Given the description of an element on the screen output the (x, y) to click on. 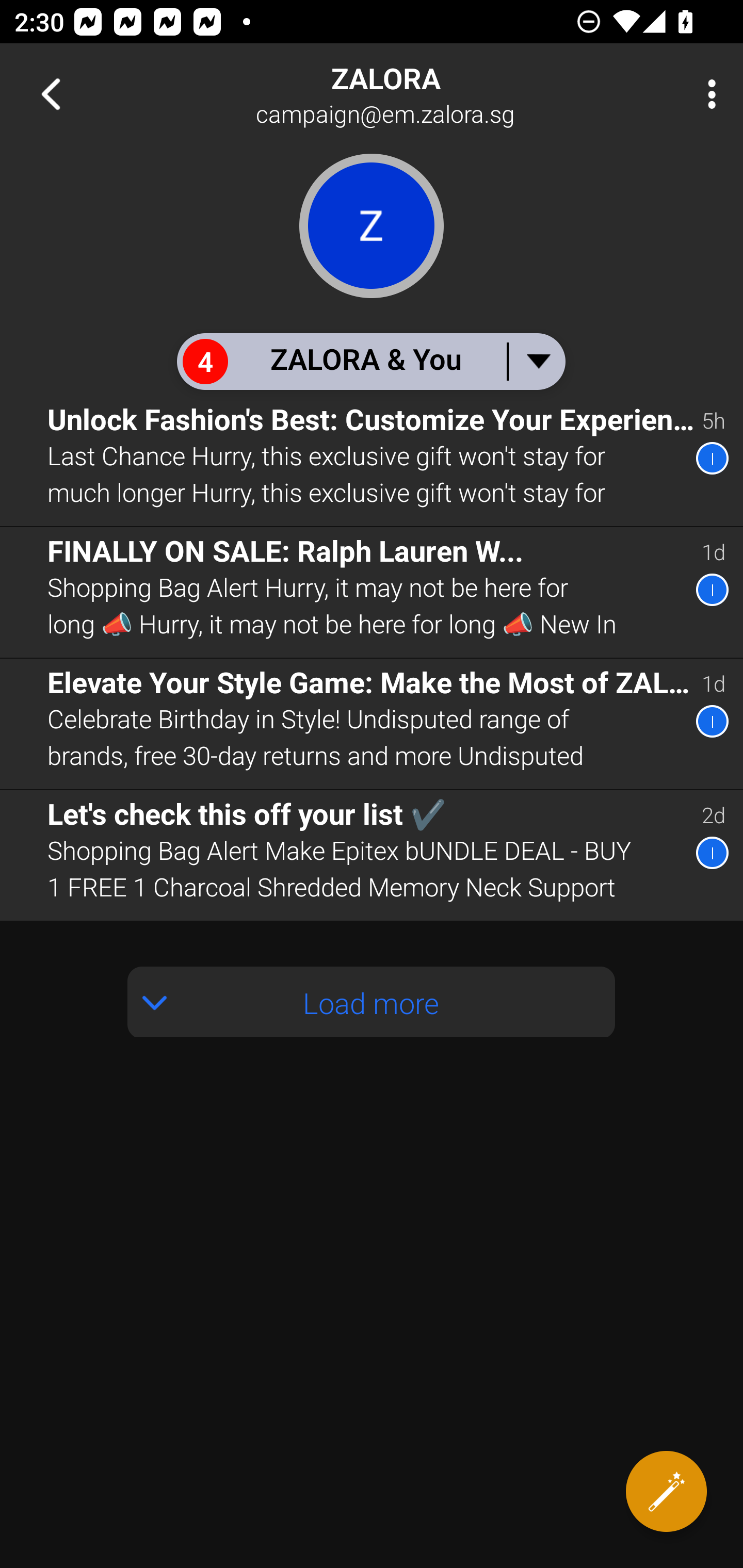
Navigate up (50, 93)
ZALORA campaign@em.zalora.sg (436, 93)
More Options (706, 93)
4 ZALORA & You (370, 361)
Load more (371, 1001)
